Given the description of an element on the screen output the (x, y) to click on. 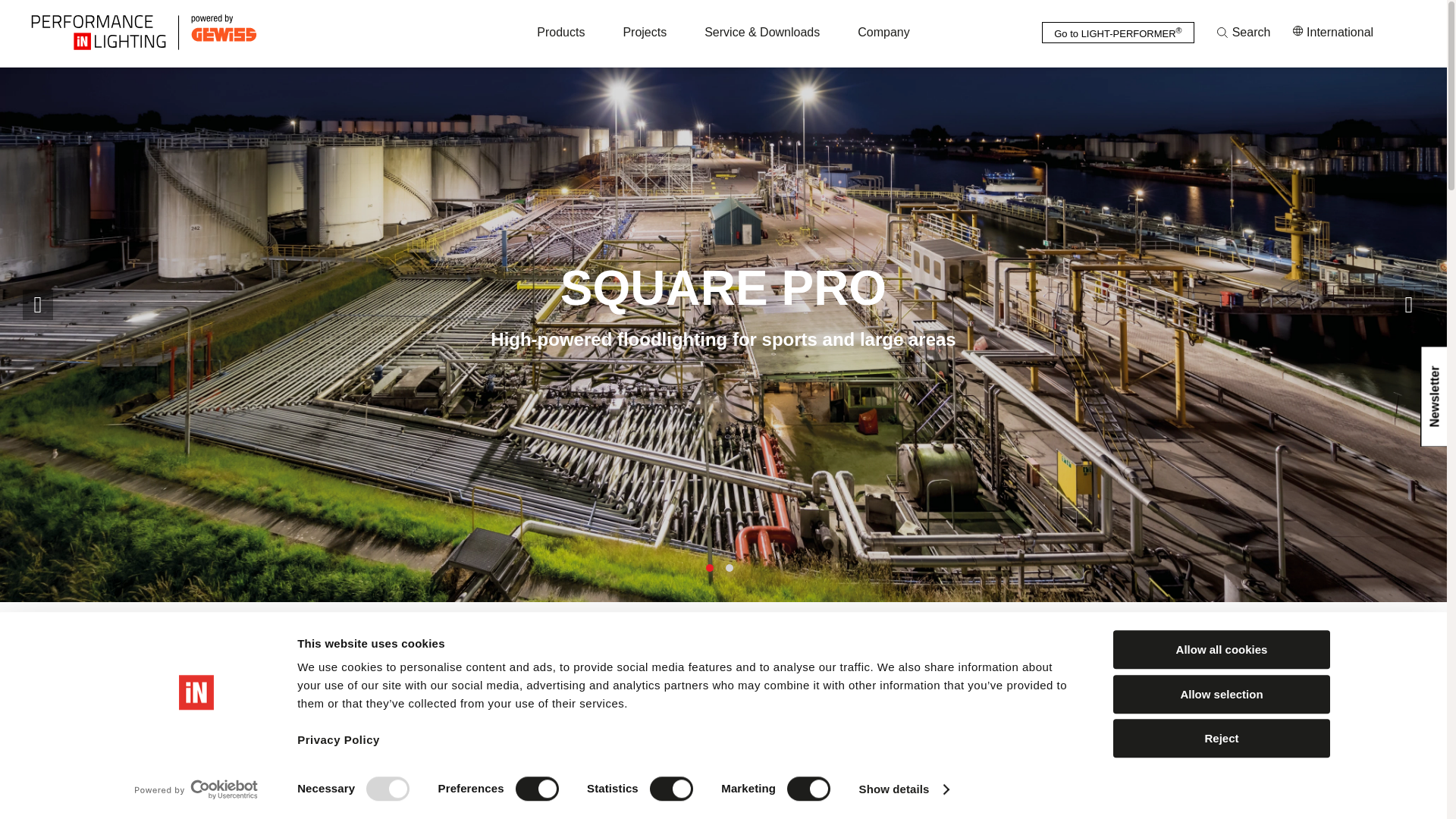
Company (882, 32)
Show details (904, 789)
Performance in Lighting (237, 32)
Products (561, 32)
Privacy Policy (338, 748)
Projects (644, 32)
